Given the description of an element on the screen output the (x, y) to click on. 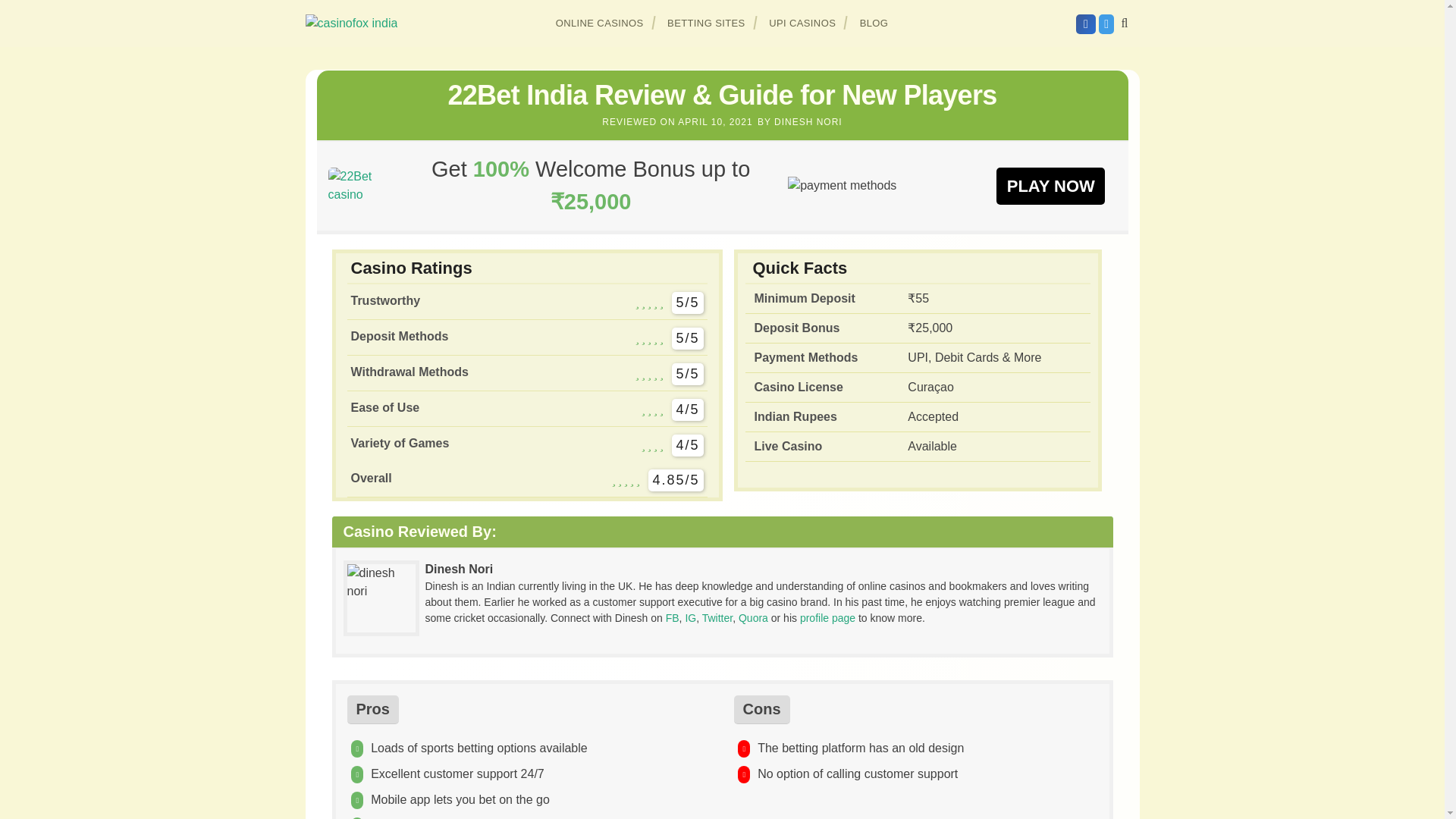
Quora (753, 617)
PLAY NOW (1050, 185)
IG (689, 617)
Twitter (716, 617)
profile page (827, 617)
22Bet (360, 185)
UPI CASINOS (801, 23)
22Bet (1050, 185)
BLOG (874, 23)
BETTING SITES (706, 23)
FB (672, 617)
ONLINE CASINOS (599, 23)
